Given the description of an element on the screen output the (x, y) to click on. 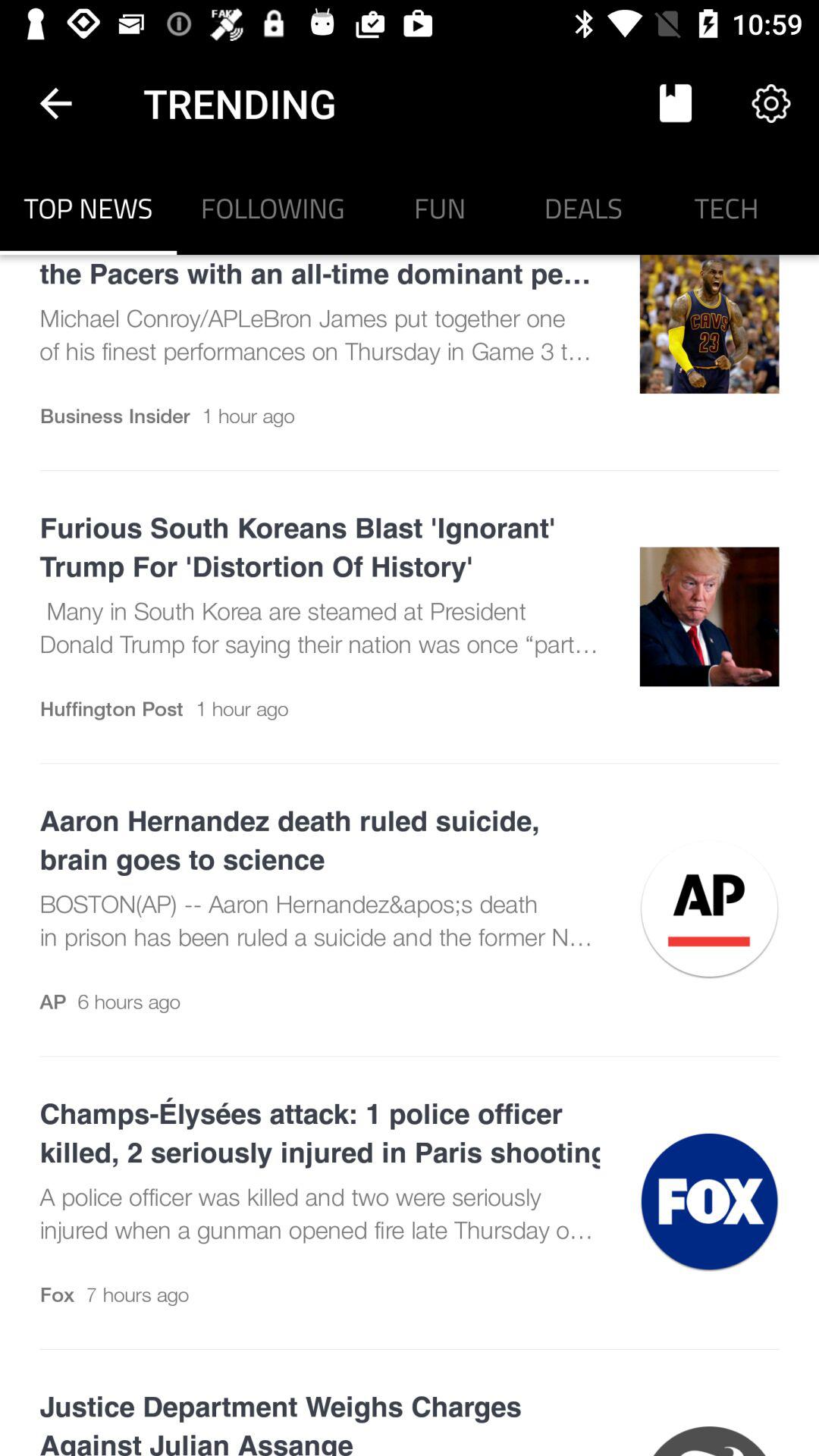
launch item above tech (771, 103)
